Given the description of an element on the screen output the (x, y) to click on. 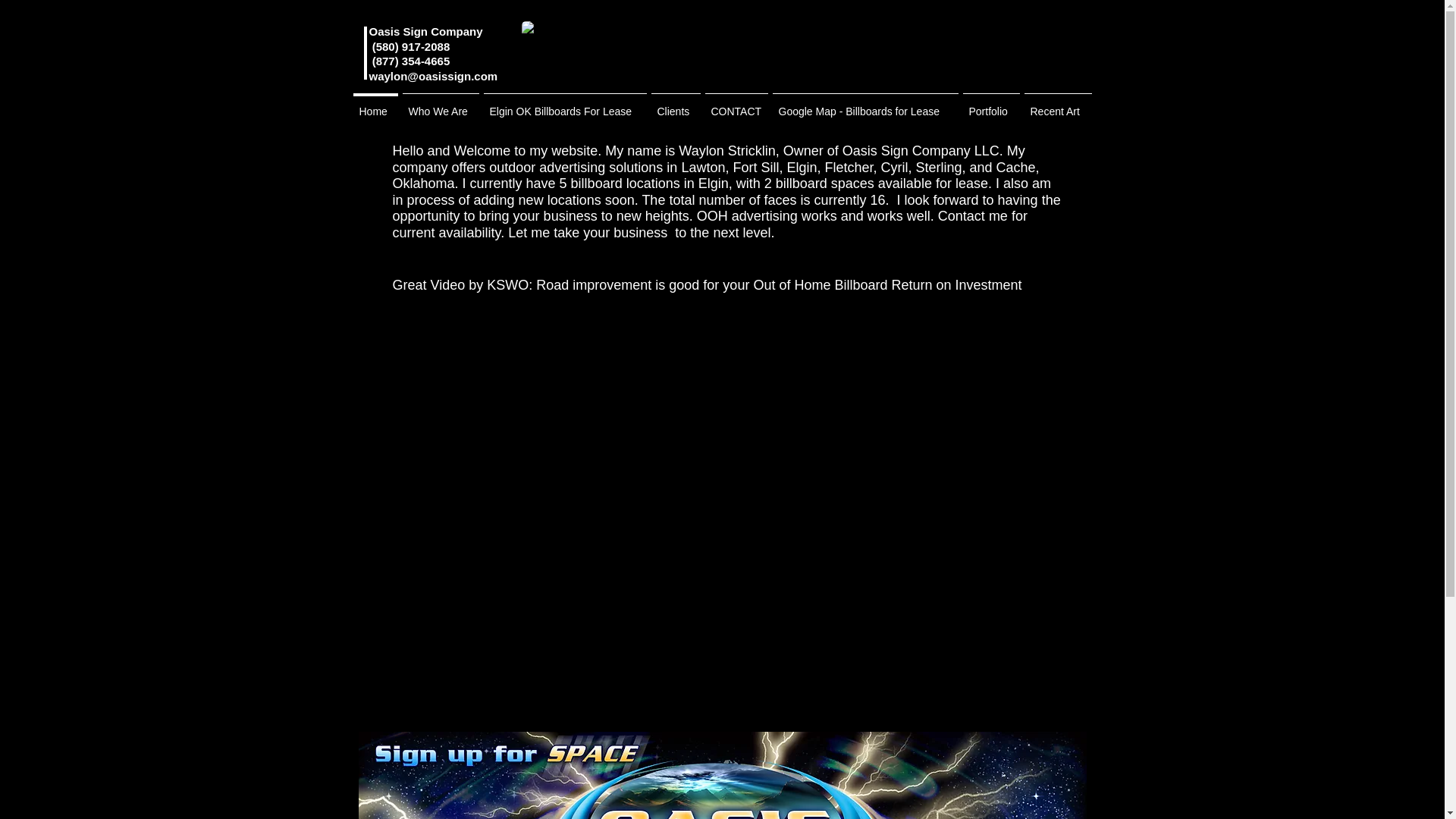
Oasis Sign Company (424, 31)
Google Map - Billboards for Lease (865, 104)
Elgin OK Billboards For Lease (563, 104)
CONTACT (735, 104)
Clients (676, 104)
Recent Art (1058, 104)
Home (374, 104)
Portfolio (990, 104)
Who We Are (440, 104)
